Given the description of an element on the screen output the (x, y) to click on. 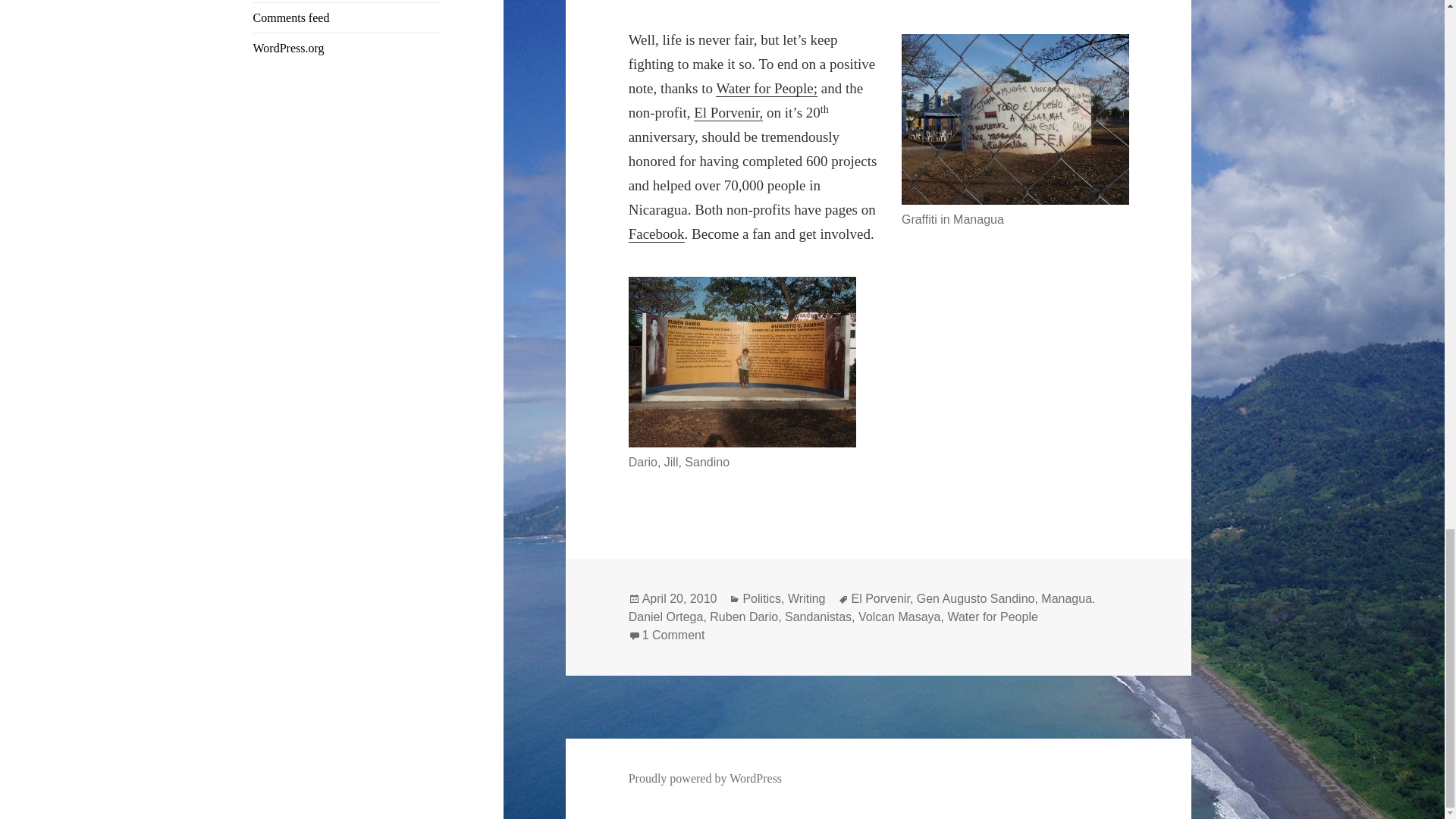
WordPress.org (288, 47)
Facebook (656, 234)
p3040225 (1015, 119)
Water for People; (766, 88)
El Porvenir, (728, 112)
El Porvenir (879, 599)
Politics (761, 599)
April 20, 2010 (679, 599)
Comments feed (291, 17)
Writing (806, 599)
p3040232 (742, 361)
